Given the description of an element on the screen output the (x, y) to click on. 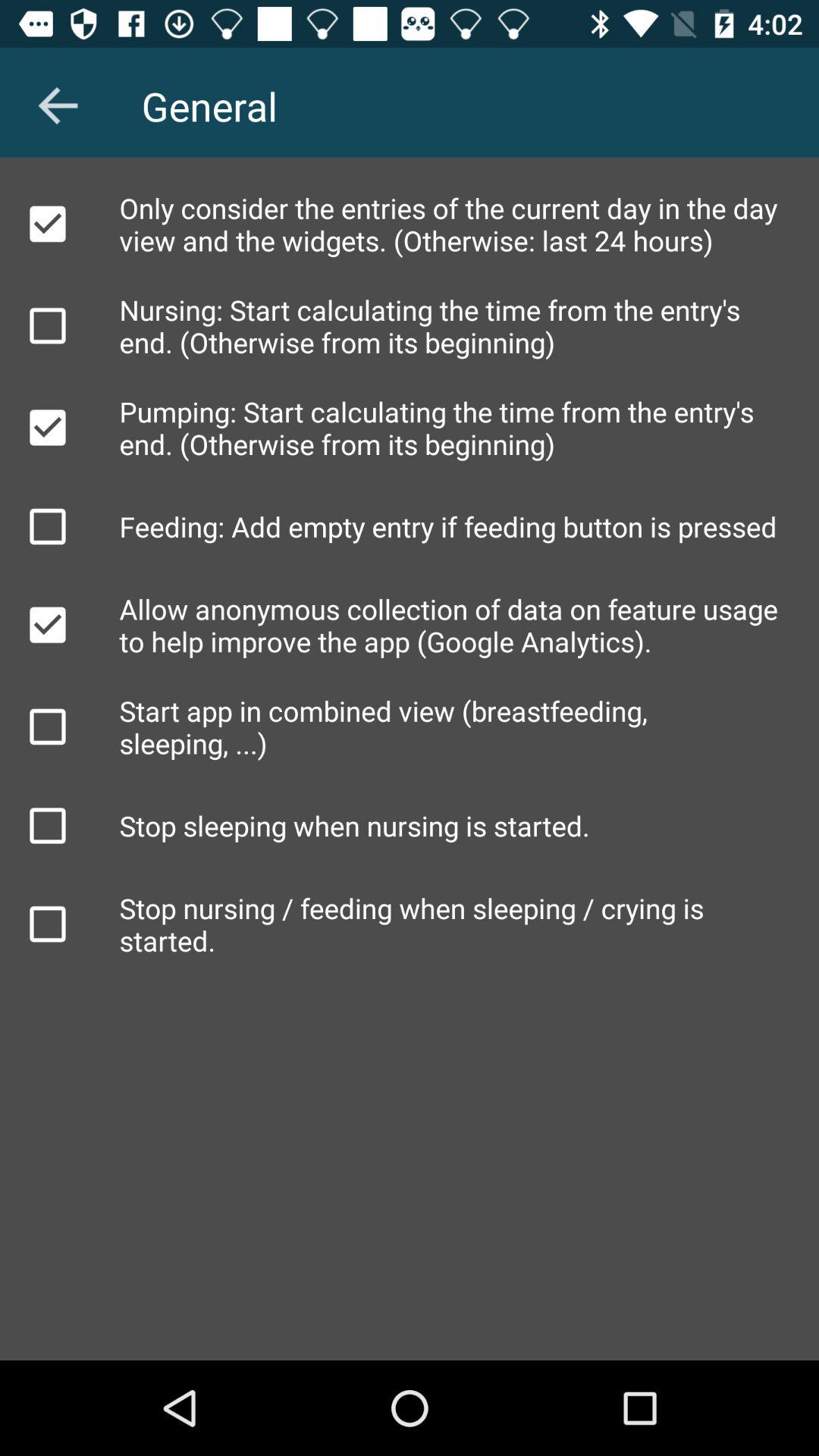
to select (47, 825)
